Given the description of an element on the screen output the (x, y) to click on. 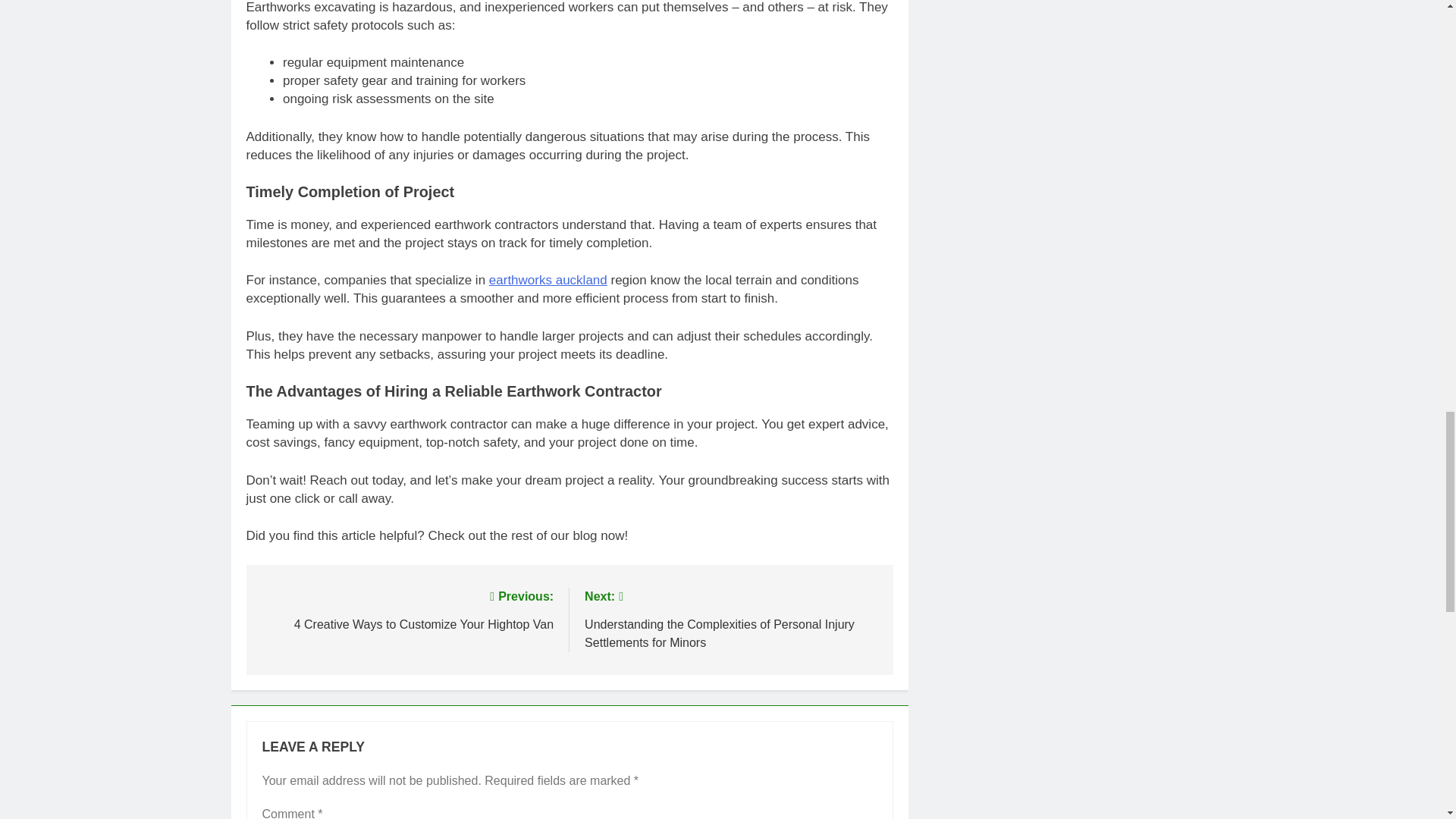
earthworks auckland (548, 279)
